Given the description of an element on the screen output the (x, y) to click on. 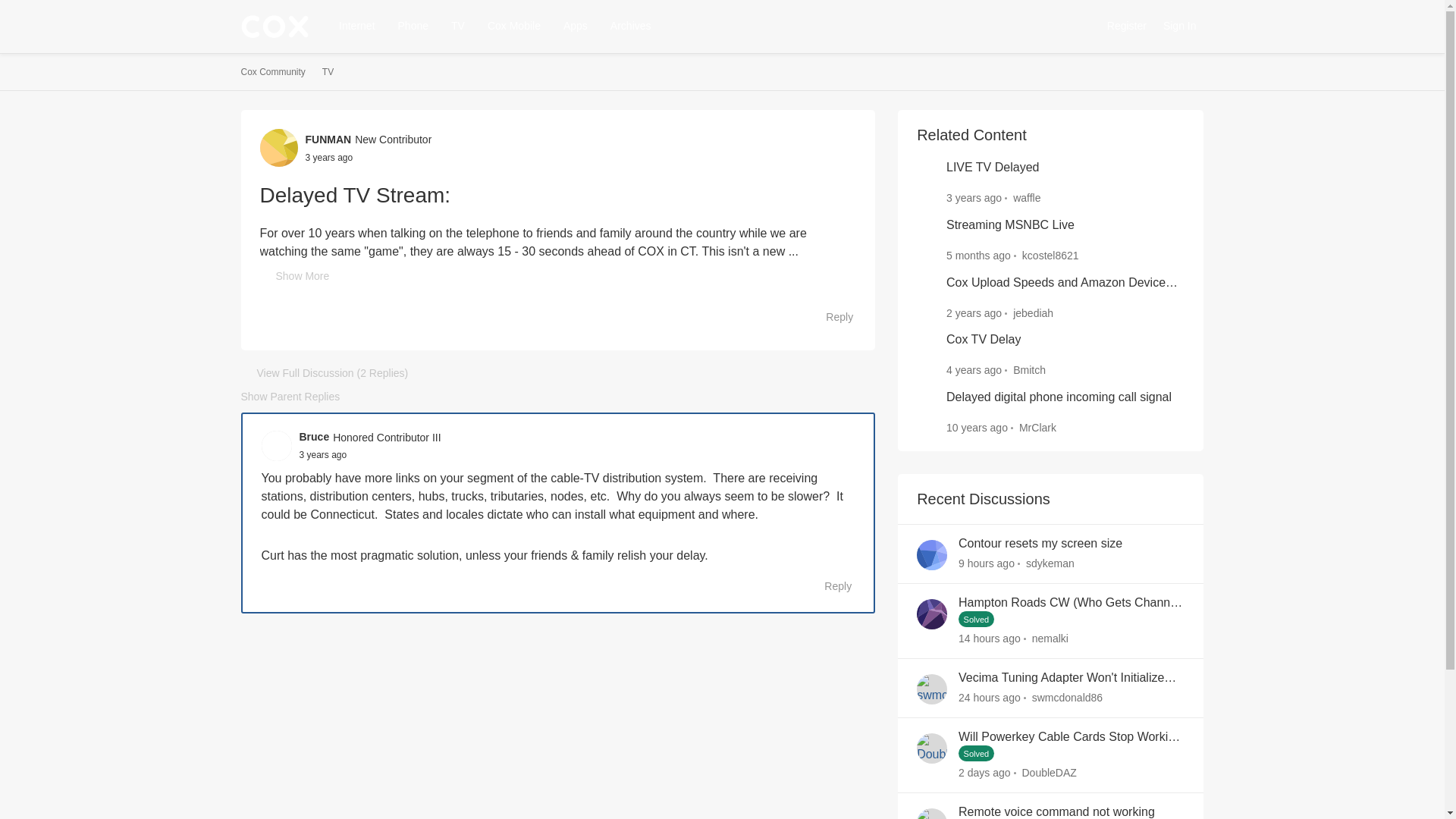
Contour resets my screen size (1040, 544)
MrClark (1038, 427)
Bruce (313, 437)
Cox TV Delay (983, 340)
August 31, 2024 at 6:28 AM (989, 697)
Skip to content (291, 48)
Streaming MSNBC Live (1010, 225)
LIVE TV Delayed (992, 167)
January 31, 2022 at 2:47 PM (328, 156)
